Given the description of an element on the screen output the (x, y) to click on. 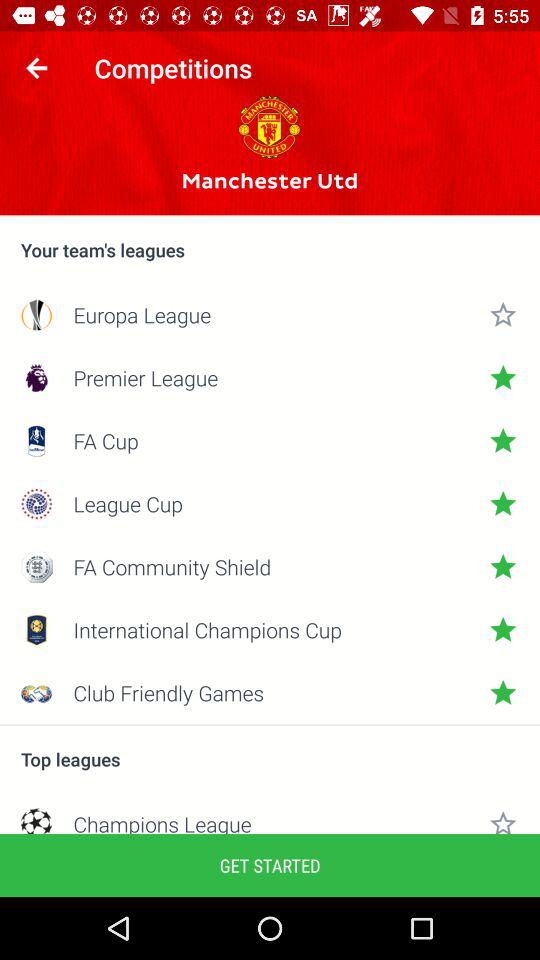
scroll to the fa cup item (269, 440)
